Given the description of an element on the screen output the (x, y) to click on. 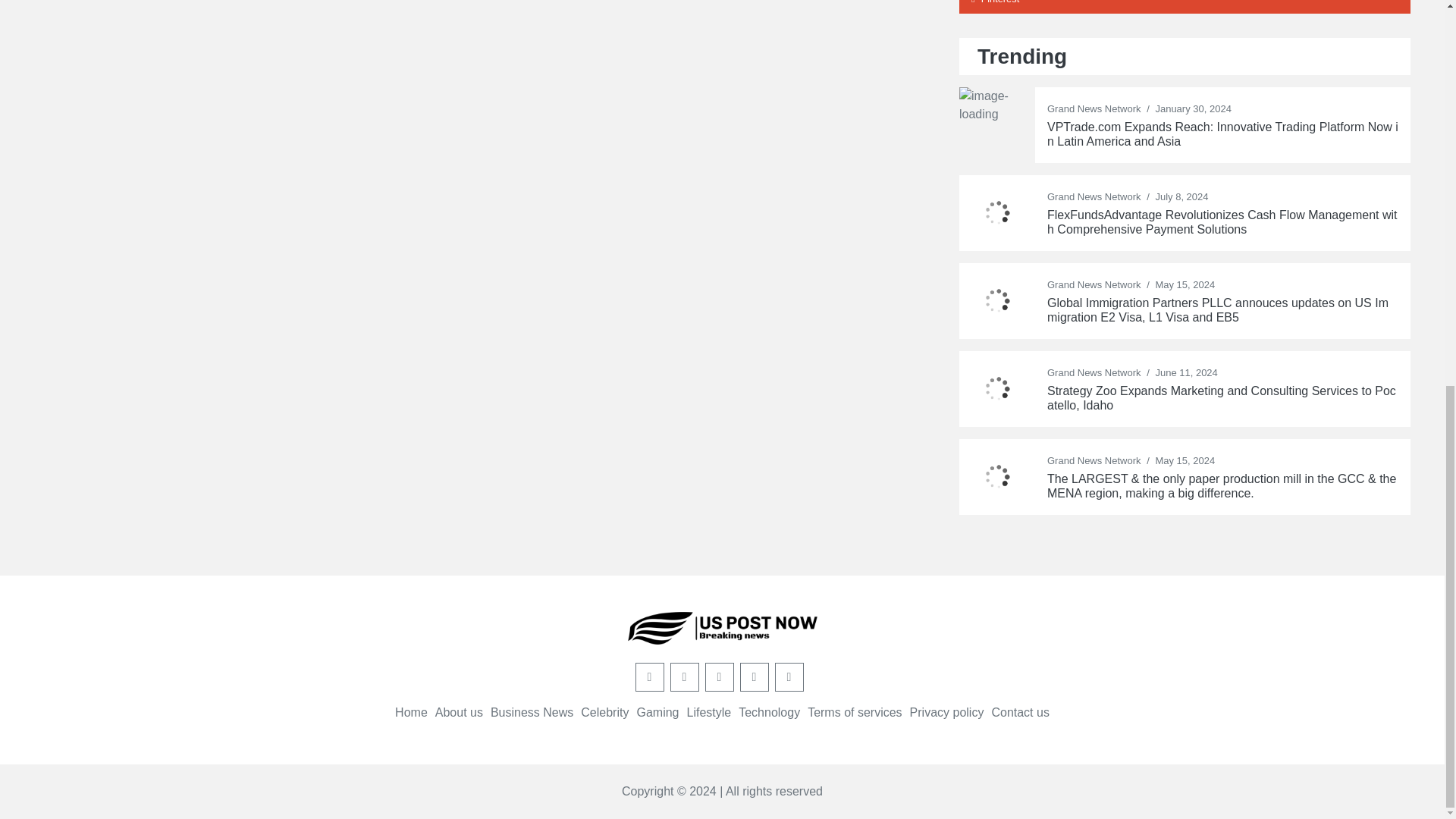
Lifestyle (707, 712)
Home (411, 712)
Technology (768, 712)
Business News (531, 712)
Celebrity (604, 712)
About us (459, 712)
Terms of services (854, 712)
